Given the description of an element on the screen output the (x, y) to click on. 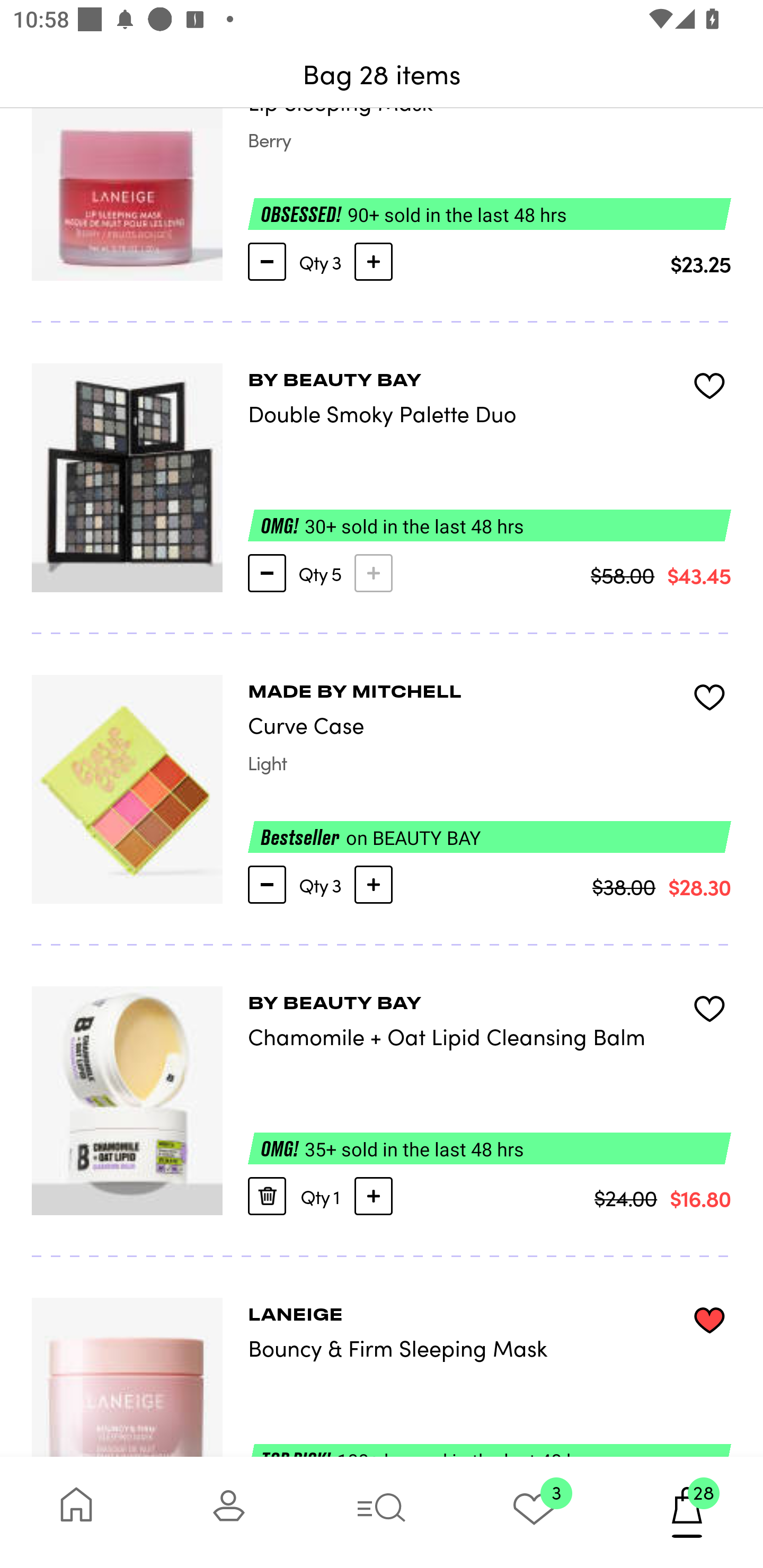
3 (533, 1512)
28 (686, 1512)
